Given the description of an element on the screen output the (x, y) to click on. 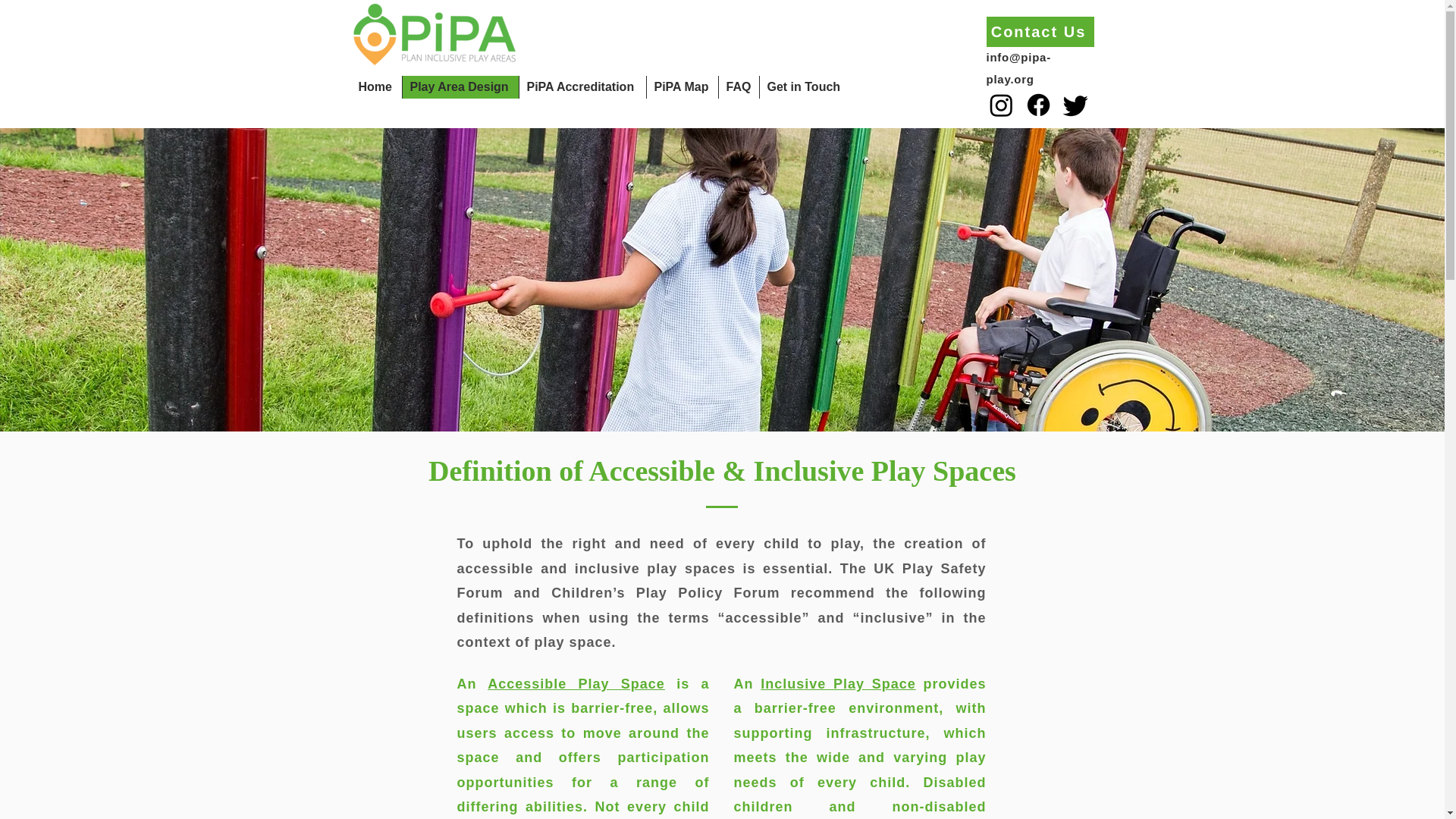
PiPA Map (681, 87)
FAQ (737, 87)
Play Area Design (459, 87)
Get in Touch (804, 87)
Contact Us (1039, 31)
Home (375, 87)
PiPA Accreditation (582, 87)
